Given the description of an element on the screen output the (x, y) to click on. 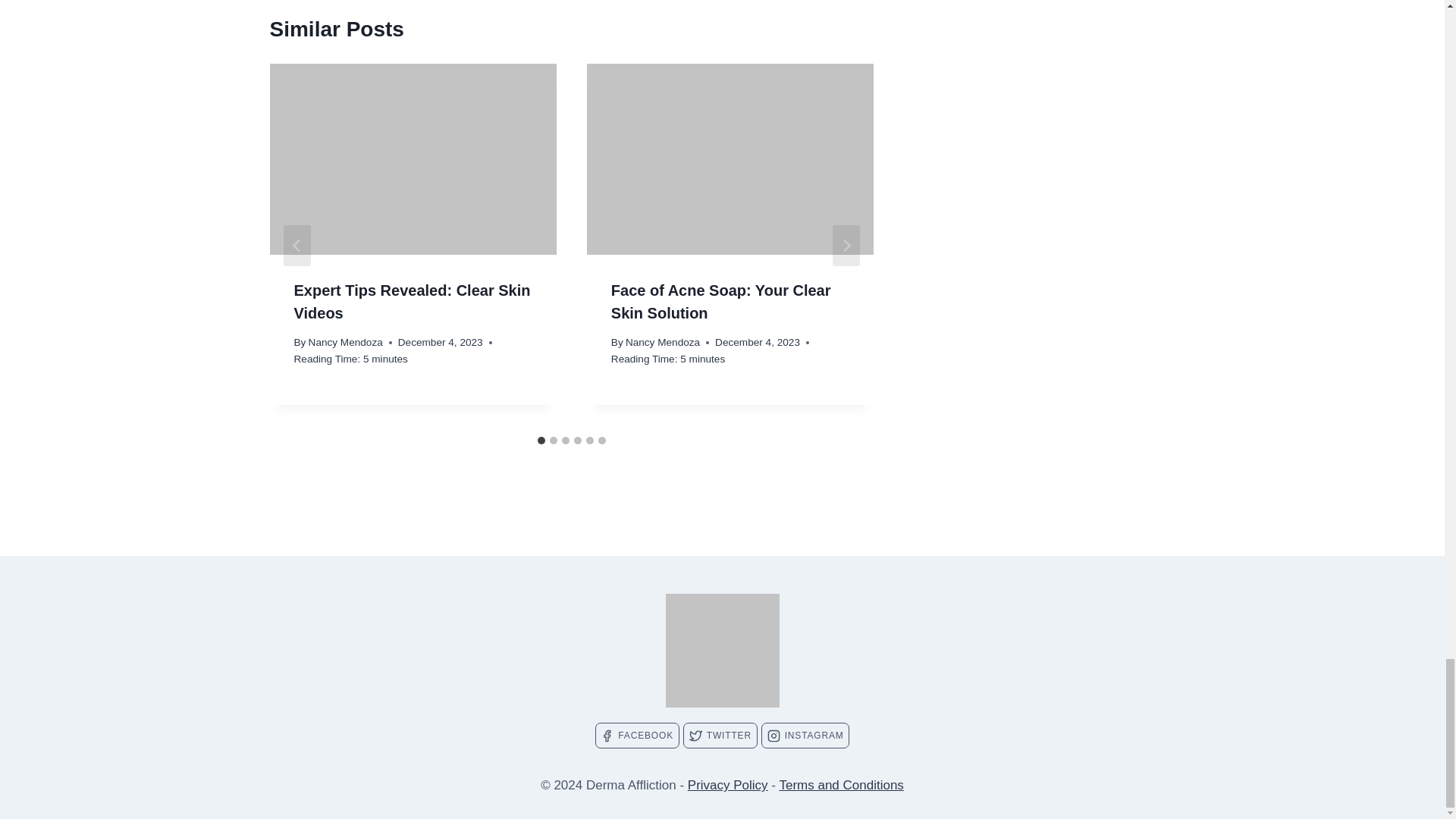
Nancy Mendoza (345, 342)
Expert Tips Revealed: Clear Skin Videos (412, 301)
